Given the description of an element on the screen output the (x, y) to click on. 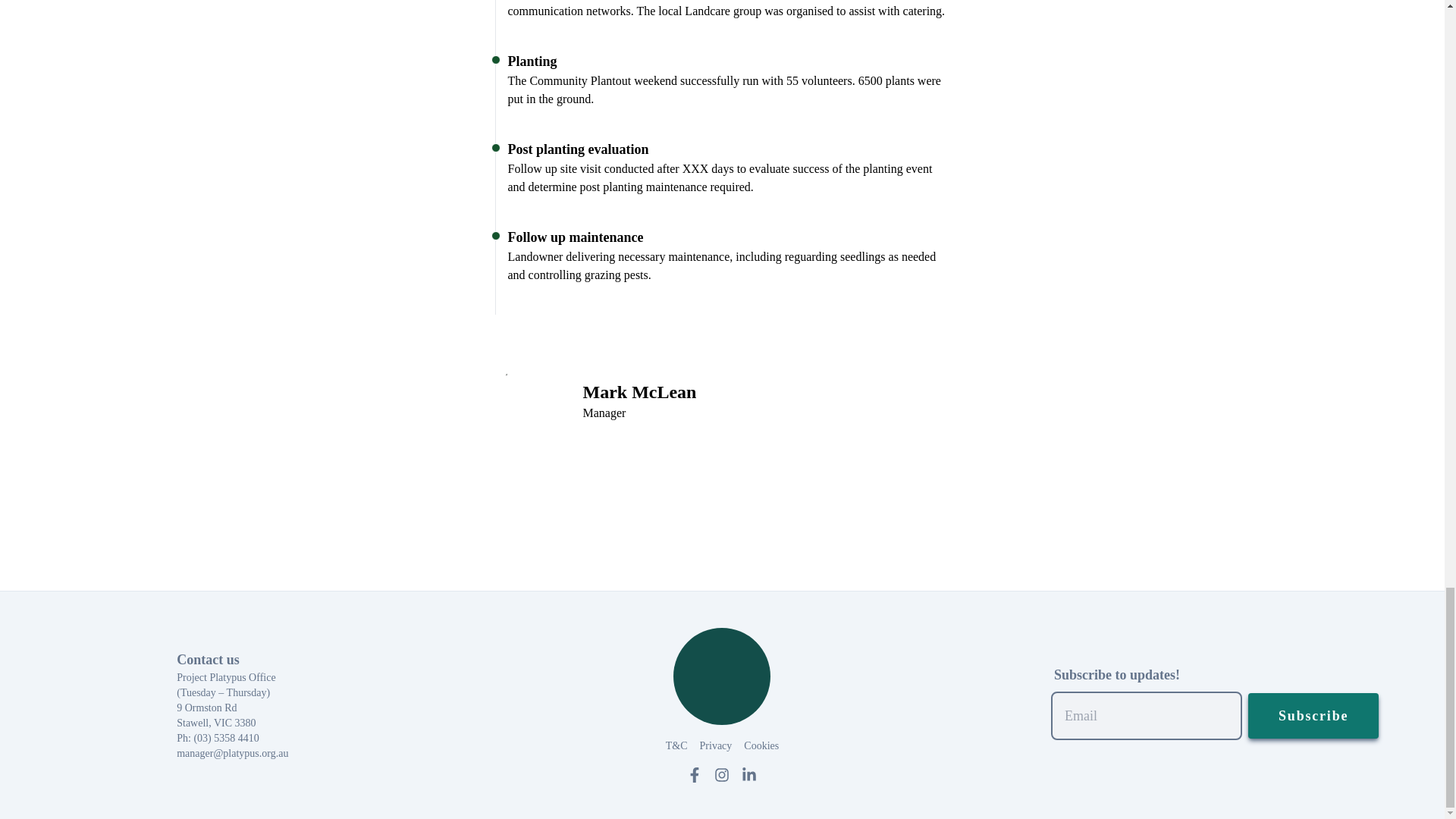
Cookies (761, 745)
Subscribe (1312, 715)
Privacy (716, 745)
